Given the description of an element on the screen output the (x, y) to click on. 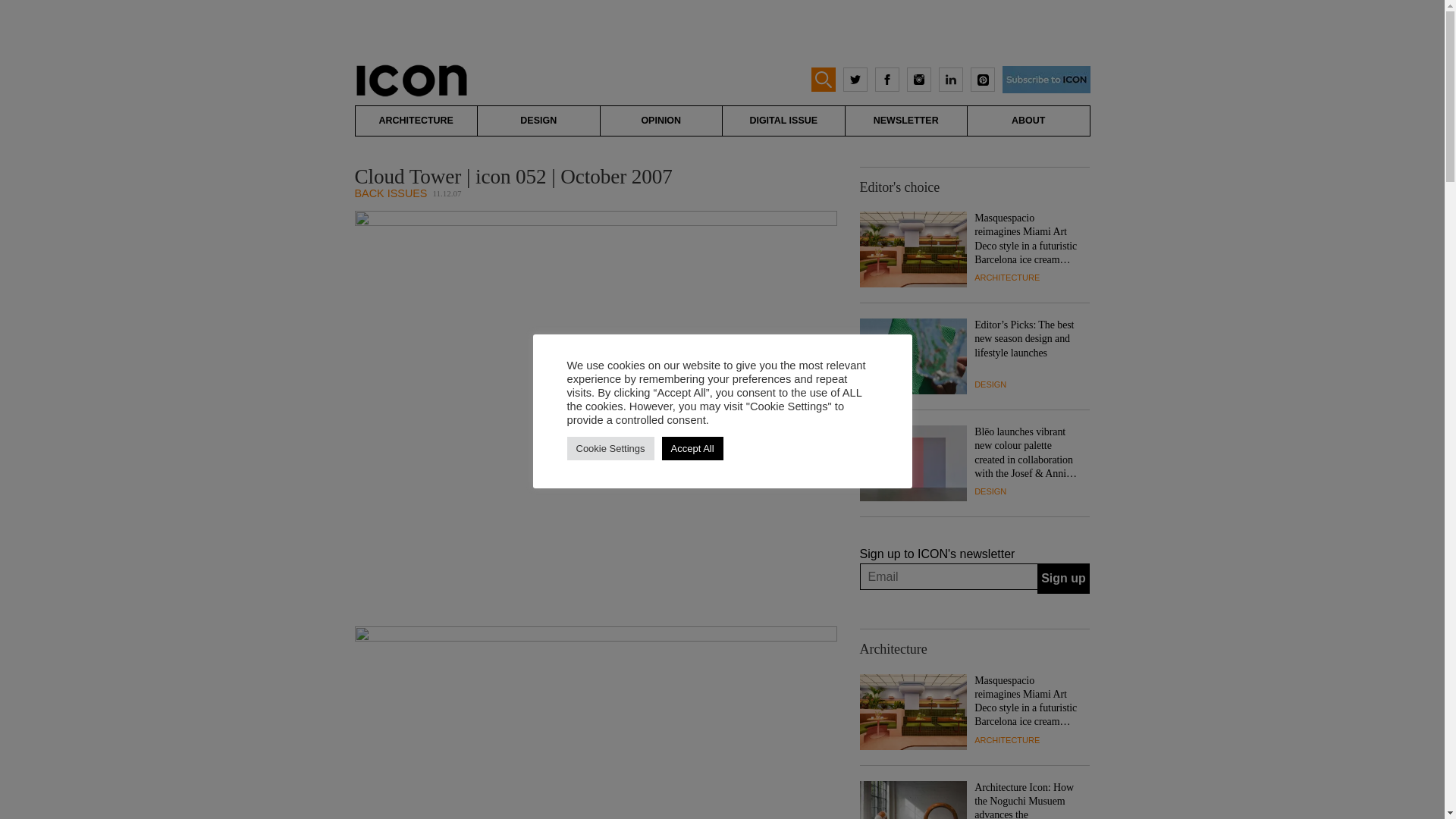
DESIGN (990, 491)
OPINION (660, 120)
DIGITAL ISSUE (783, 120)
ARCHITECTURE (416, 120)
ABOUT (1028, 120)
ARCHITECTURE (1006, 276)
DESIGN (990, 384)
NEWSLETTER (905, 120)
BACK ISSUES (391, 193)
Sign up (1062, 578)
Search (25, 9)
DESIGN (538, 120)
